Given the description of an element on the screen output the (x, y) to click on. 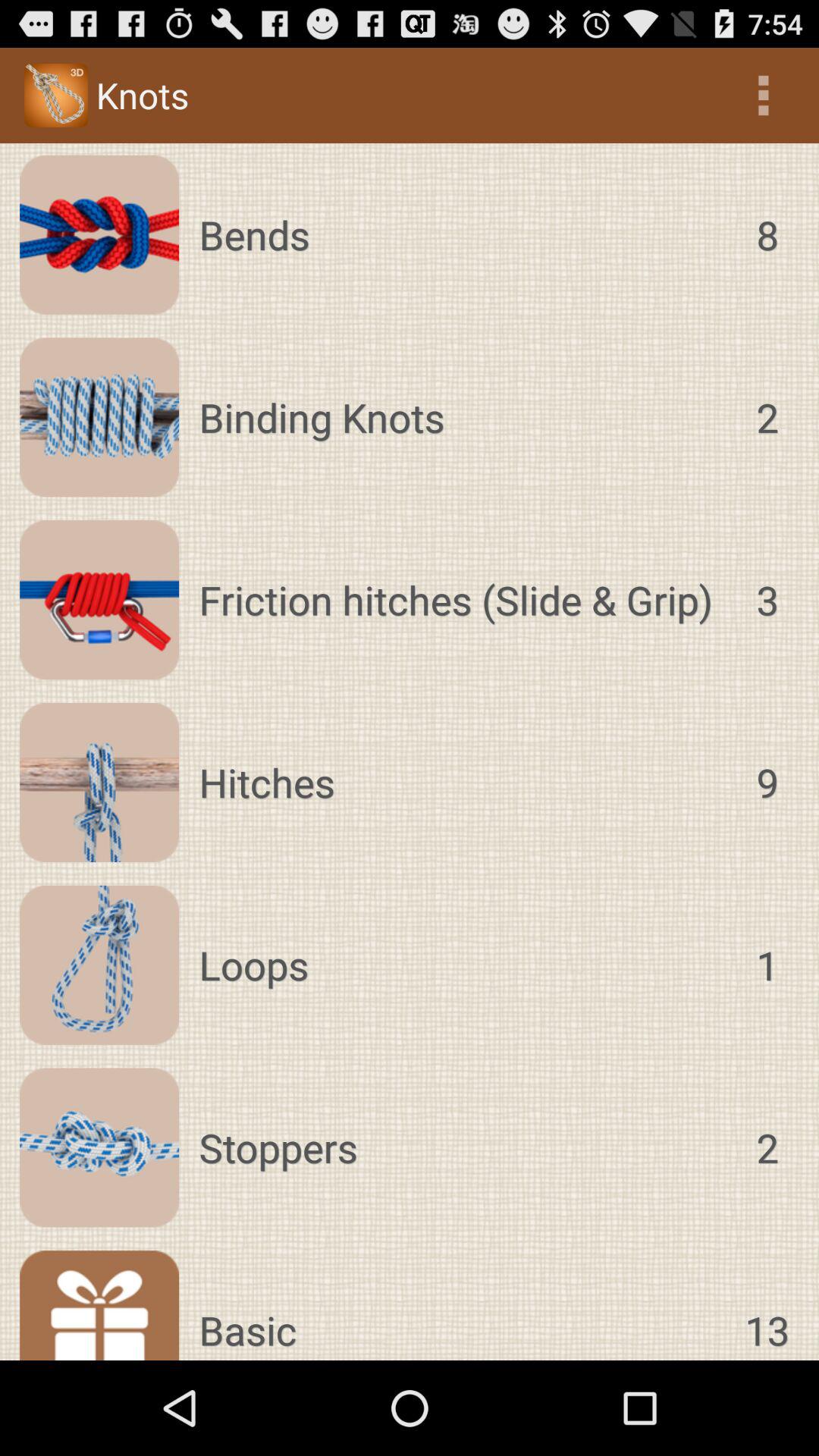
choose 9 (767, 782)
